Given the description of an element on the screen output the (x, y) to click on. 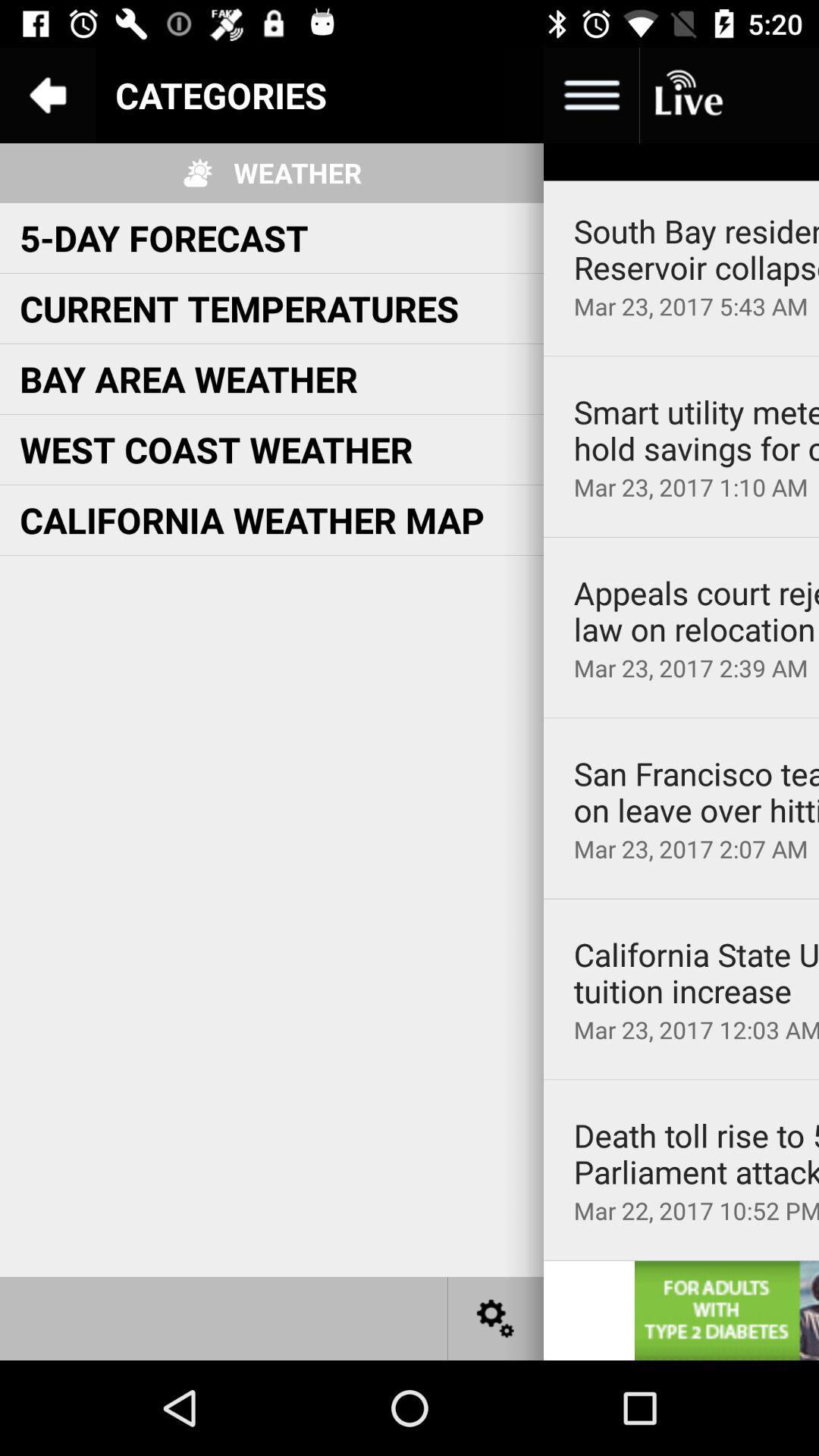
go back (47, 95)
